Given the description of an element on the screen output the (x, y) to click on. 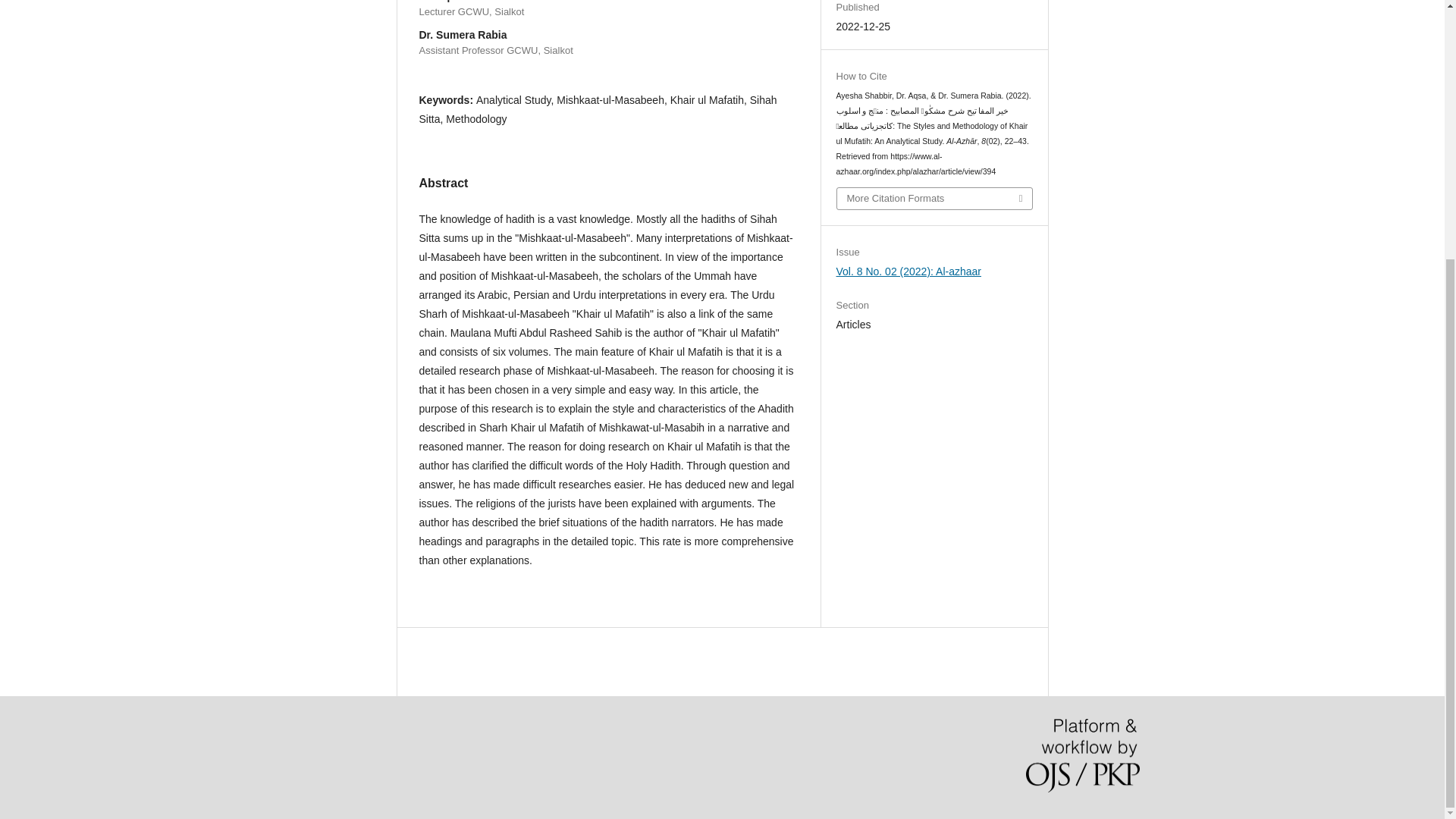
More Citation Formats (934, 198)
